Given the description of an element on the screen output the (x, y) to click on. 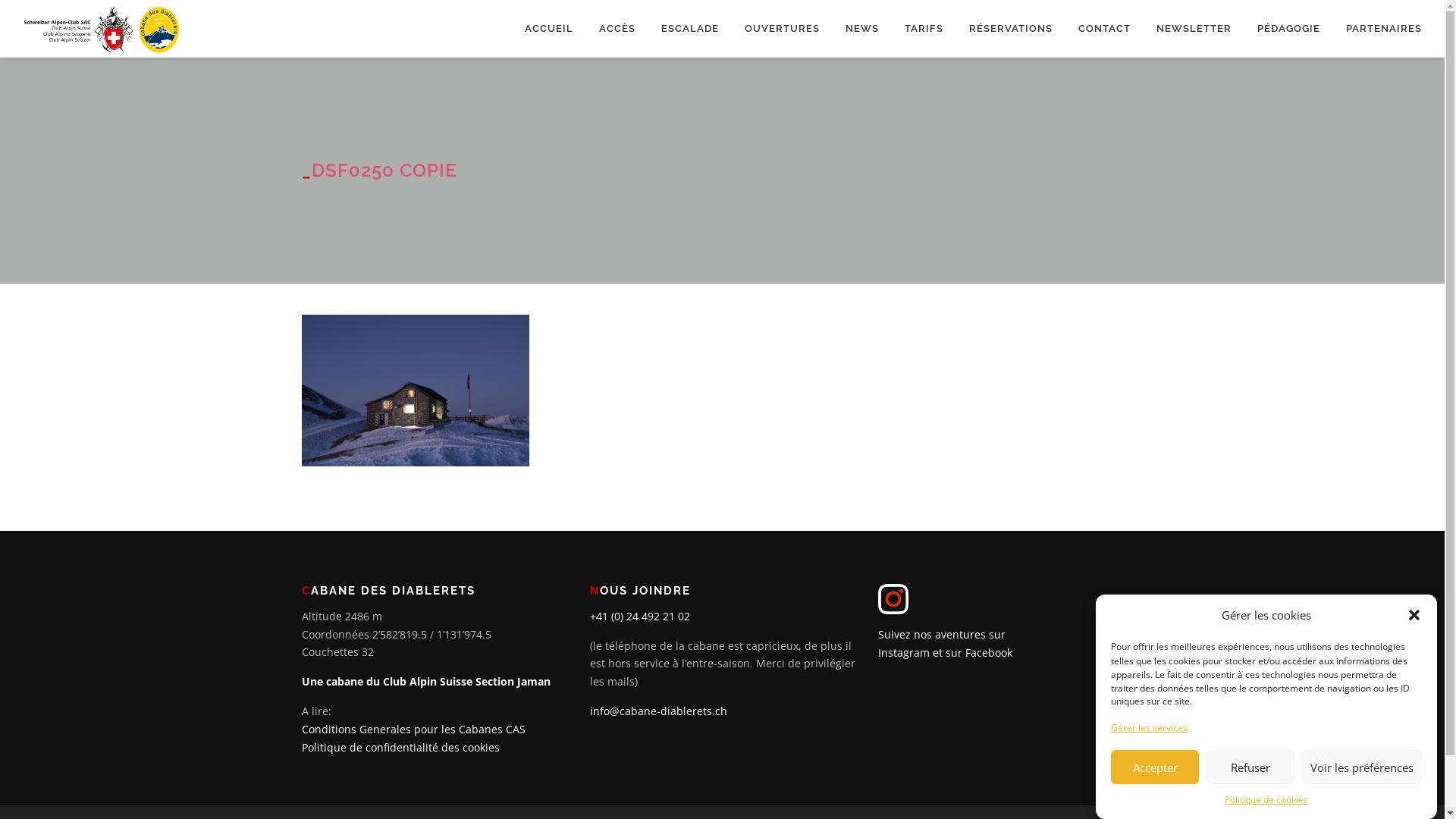
Instagram Element type: text (903, 652)
Une cabane du Club Alpin Suisse Section Jaman Element type: text (425, 681)
info@cabane-diablerets.ch Element type: text (658, 710)
Suivez nos aventures sur Element type: text (941, 634)
PARTENAIRES Element type: text (1377, 28)
ESCALADE Element type: text (689, 28)
Politique de cookies Element type: text (1266, 799)
NEWS Element type: text (861, 28)
+41 (0) 24 492 21 02 Element type: text (639, 615)
  Element type: text (894, 597)
TARIFS Element type: text (923, 28)
Retour en haut Element type: hover (1372, 797)
Accepter Element type: text (1154, 767)
Refuser Element type: text (1250, 767)
CONTACT Element type: text (1104, 28)
ACCUEIL Element type: text (548, 28)
NEWSLETTER Element type: text (1193, 28)
et sur Facebook Element type: text (972, 652)
OUVERTURES Element type: text (781, 28)
Conditions Generales pour les Cabanes CAS  Element type: text (414, 728)
